Given the description of an element on the screen output the (x, y) to click on. 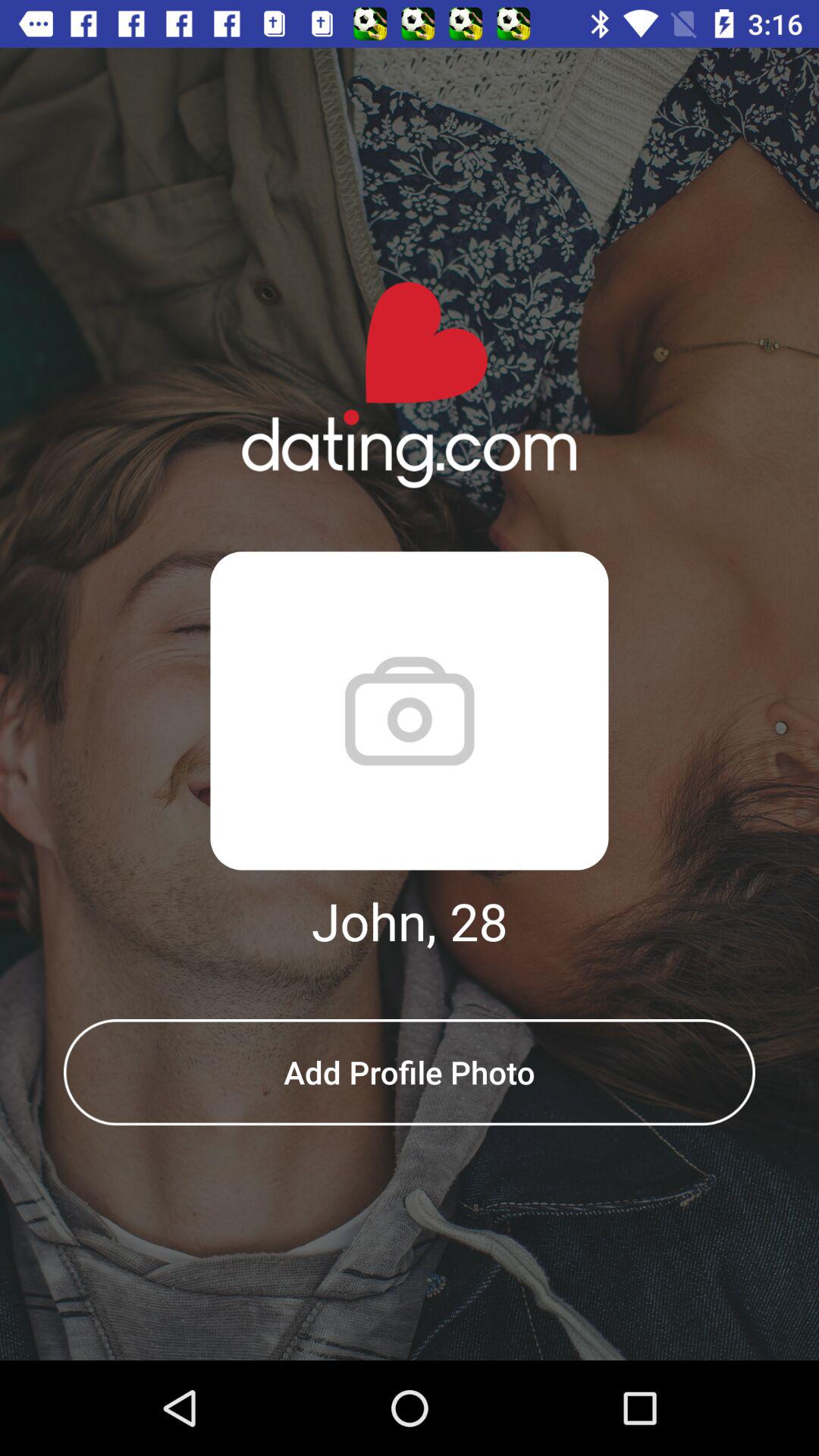
take picture (409, 710)
